Given the description of an element on the screen output the (x, y) to click on. 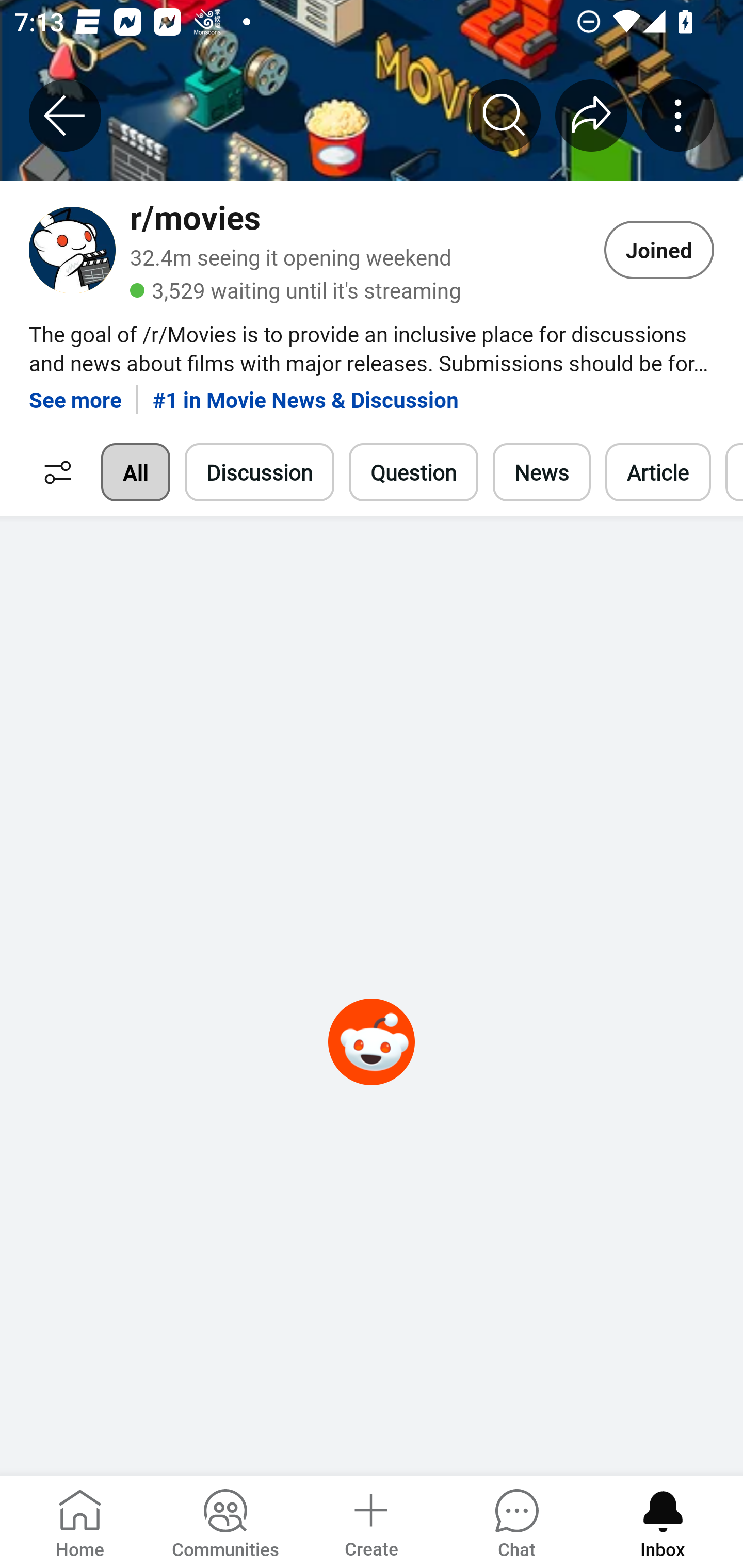
Back (64, 115)
Search r/﻿movies (504, 115)
Share r/﻿movies (591, 115)
More community actions (677, 115)
See more (74, 391)
#1 in Movie News & Discussion (305, 391)
Feed Options (53, 472)
All (135, 472)
Discussion (259, 472)
Question (413, 472)
News (541, 472)
Article (658, 472)
Home (80, 1520)
Communities (225, 1520)
Create a post Create (370, 1520)
Chat (516, 1520)
Inbox (662, 1520)
